Given the description of an element on the screen output the (x, y) to click on. 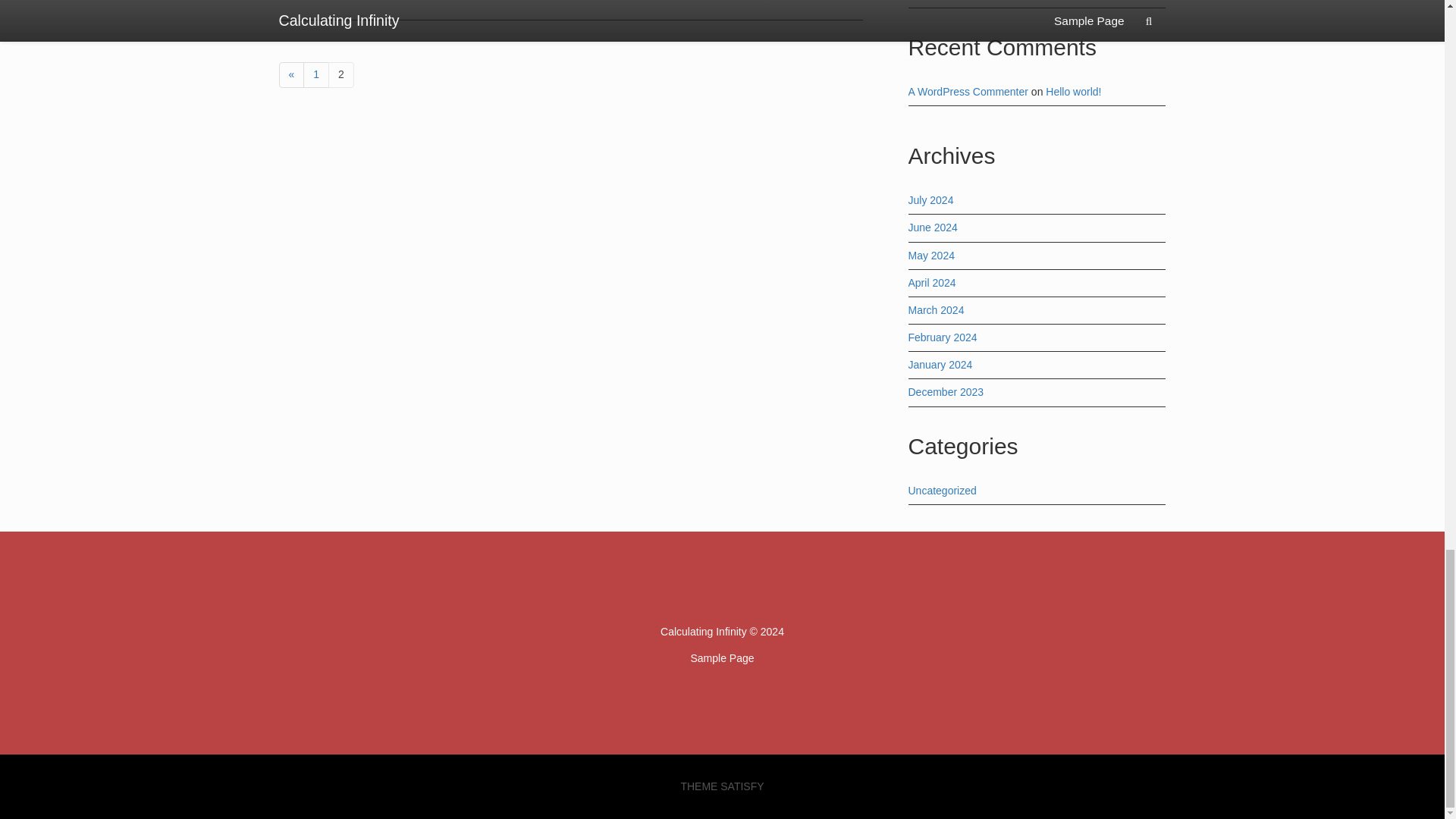
1 (315, 74)
